Given the description of an element on the screen output the (x, y) to click on. 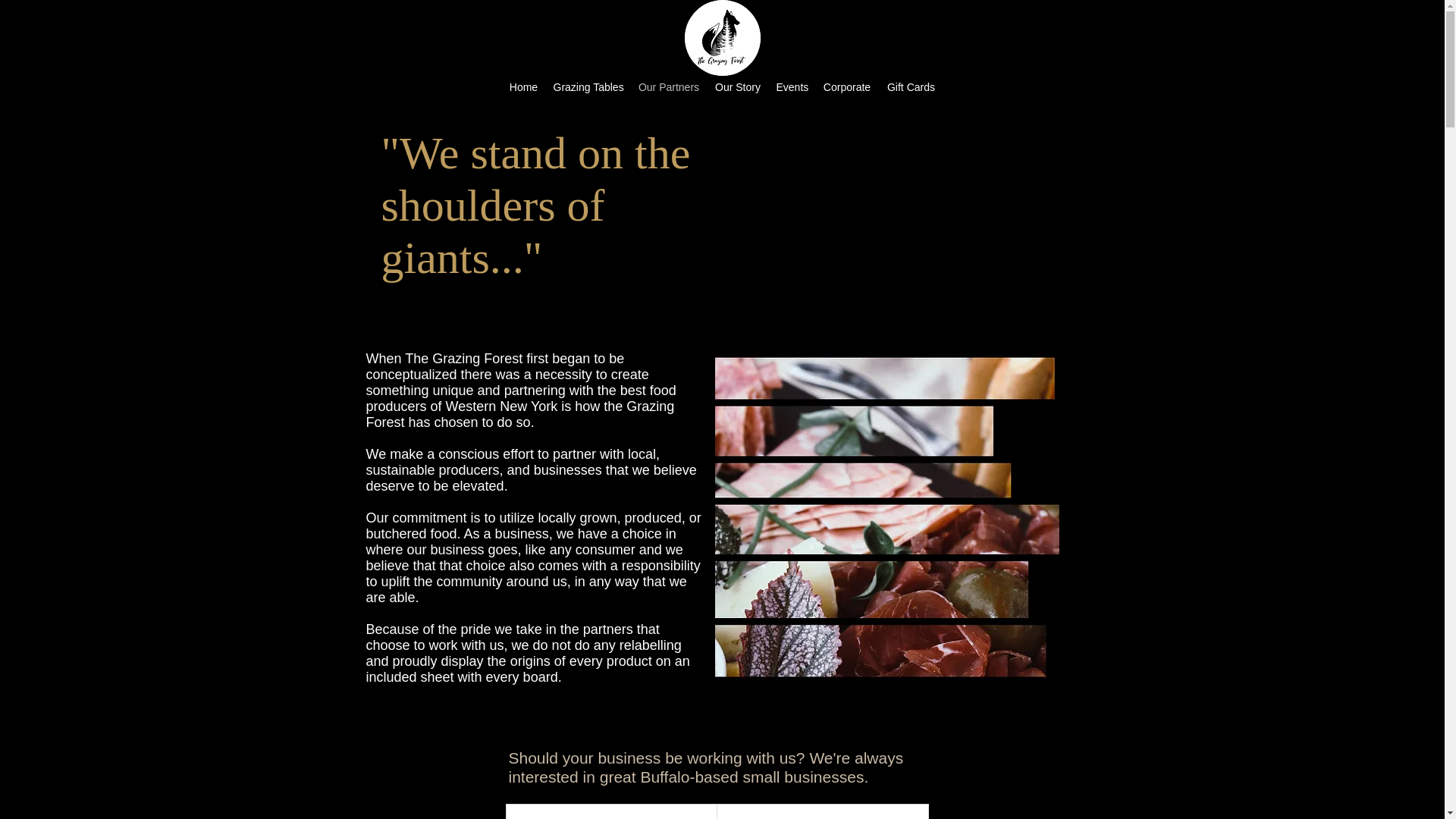
Home (524, 87)
Events (791, 87)
Our Partners (668, 87)
Corporate (846, 87)
Our Story (737, 87)
Grazing Tables (588, 87)
Gift Cards (911, 87)
